Given the description of an element on the screen output the (x, y) to click on. 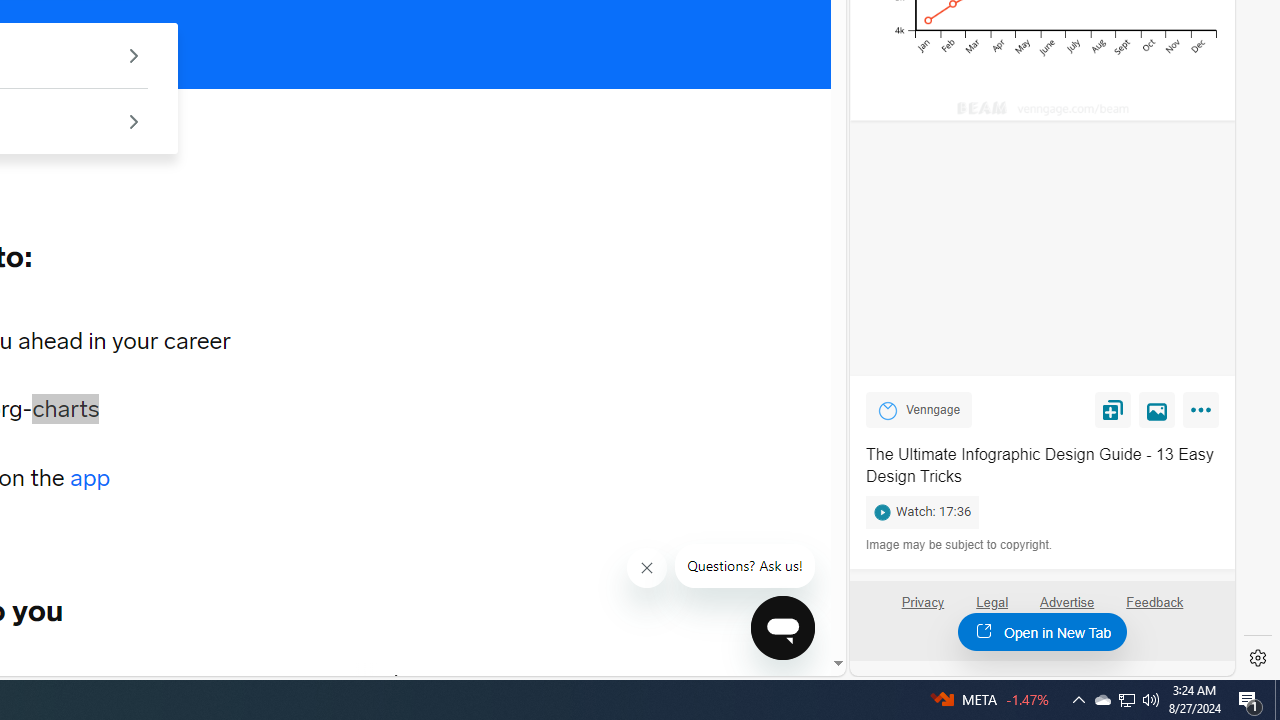
Class: sc-1uf0igr-1 fjHZYk (646, 568)
MEDIA (397, 681)
STRATEGY (283, 681)
More (1204, 413)
Class: sc-1k07fow-1 cbnSms (782, 627)
app (90, 477)
Save (1112, 409)
